Given the description of an element on the screen output the (x, y) to click on. 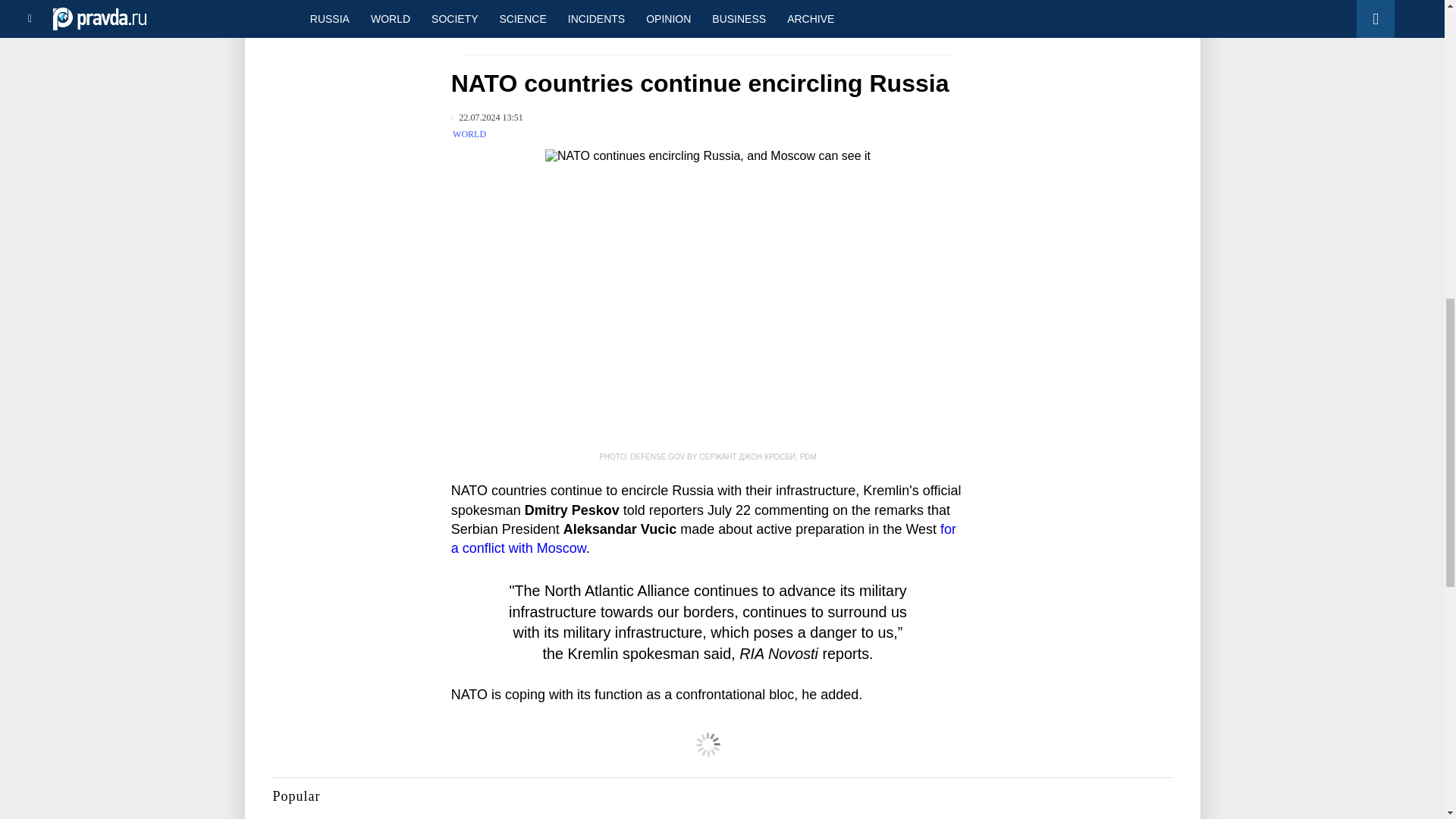
WORLD (469, 133)
Back to top (1418, 79)
NATO continues encircling Russia, and Moscow can see it (707, 300)
Published (486, 117)
